Given the description of an element on the screen output the (x, y) to click on. 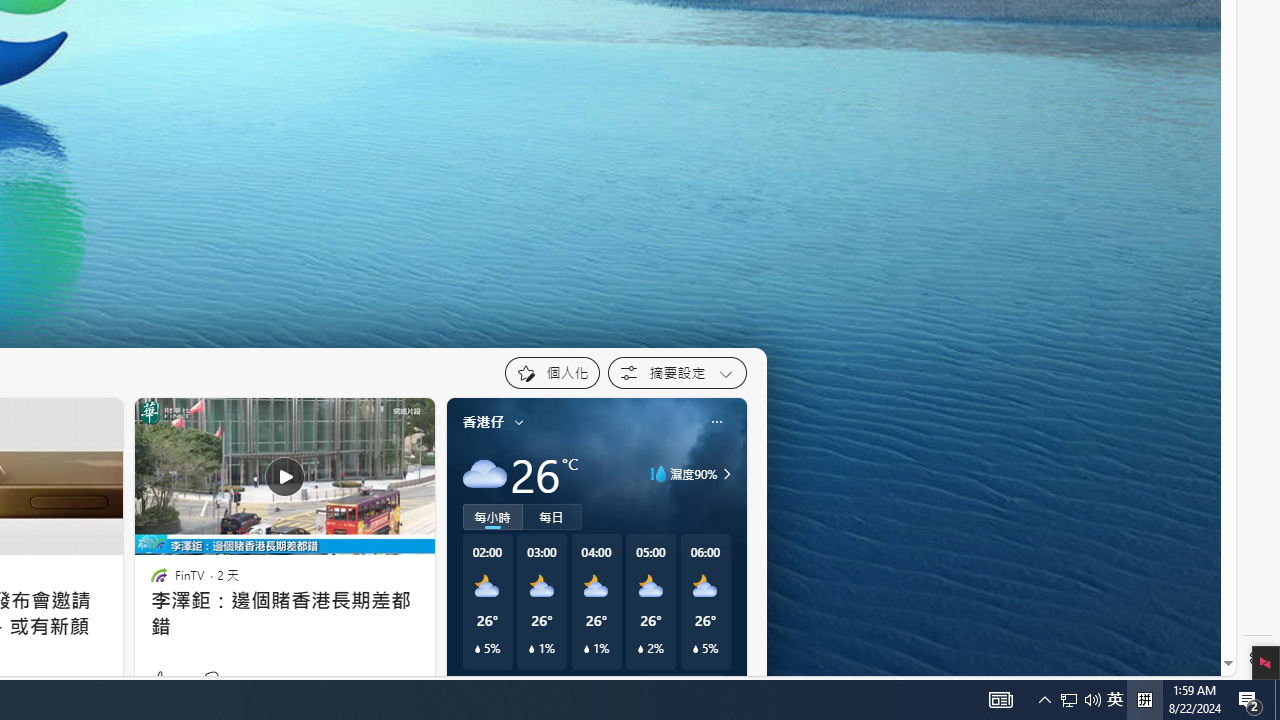
Class: weather-current-precipitation-glyph (695, 649)
